Given the description of an element on the screen output the (x, y) to click on. 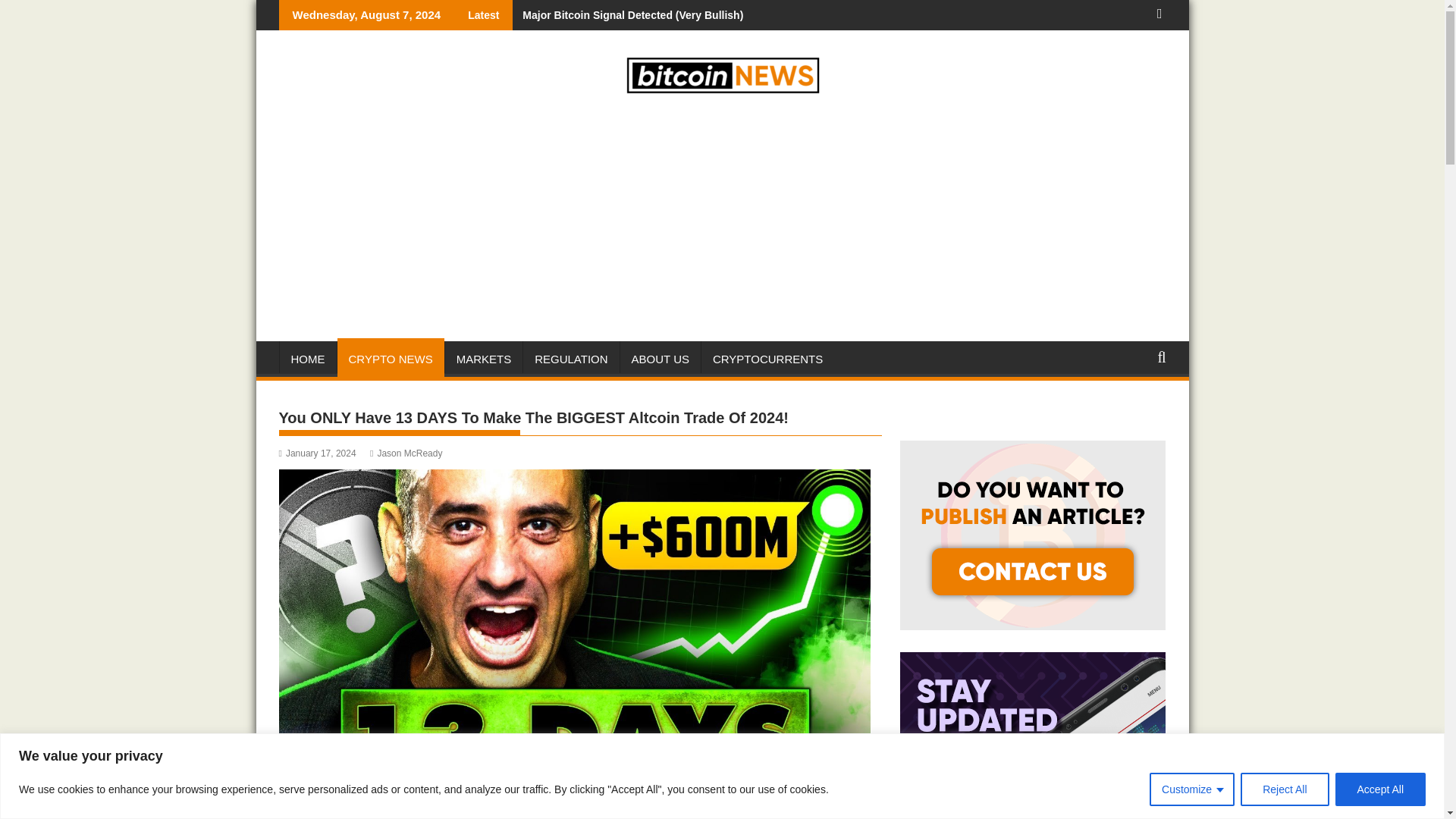
ABOUT US (660, 359)
Customize (1192, 788)
Reject All (1283, 788)
HOME (307, 359)
CRYPTO NEWS (390, 359)
Jason McReady (405, 452)
Accept All (1380, 788)
MARKETS (483, 359)
January 17, 2024 (317, 452)
